Given the description of an element on the screen output the (x, y) to click on. 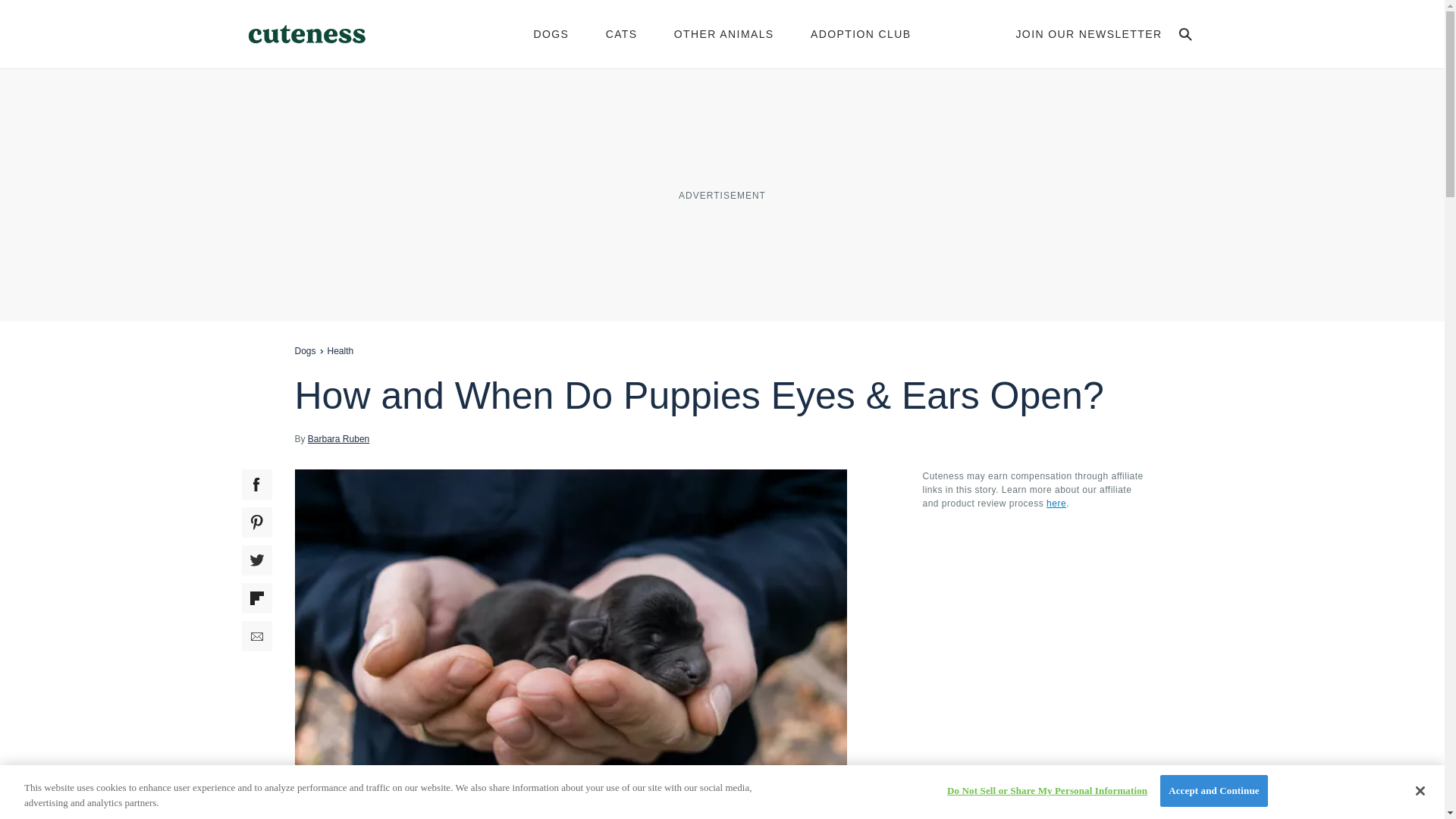
Health (340, 350)
Barbara Ruben (338, 438)
3rd party ad content (1035, 616)
3rd party ad content (721, 194)
JOIN OUR NEWSLETTER (1087, 33)
ADOPTION CLUB (860, 33)
Learn more about our affiliate and product review process (1055, 502)
Dogs (304, 350)
